Given the description of an element on the screen output the (x, y) to click on. 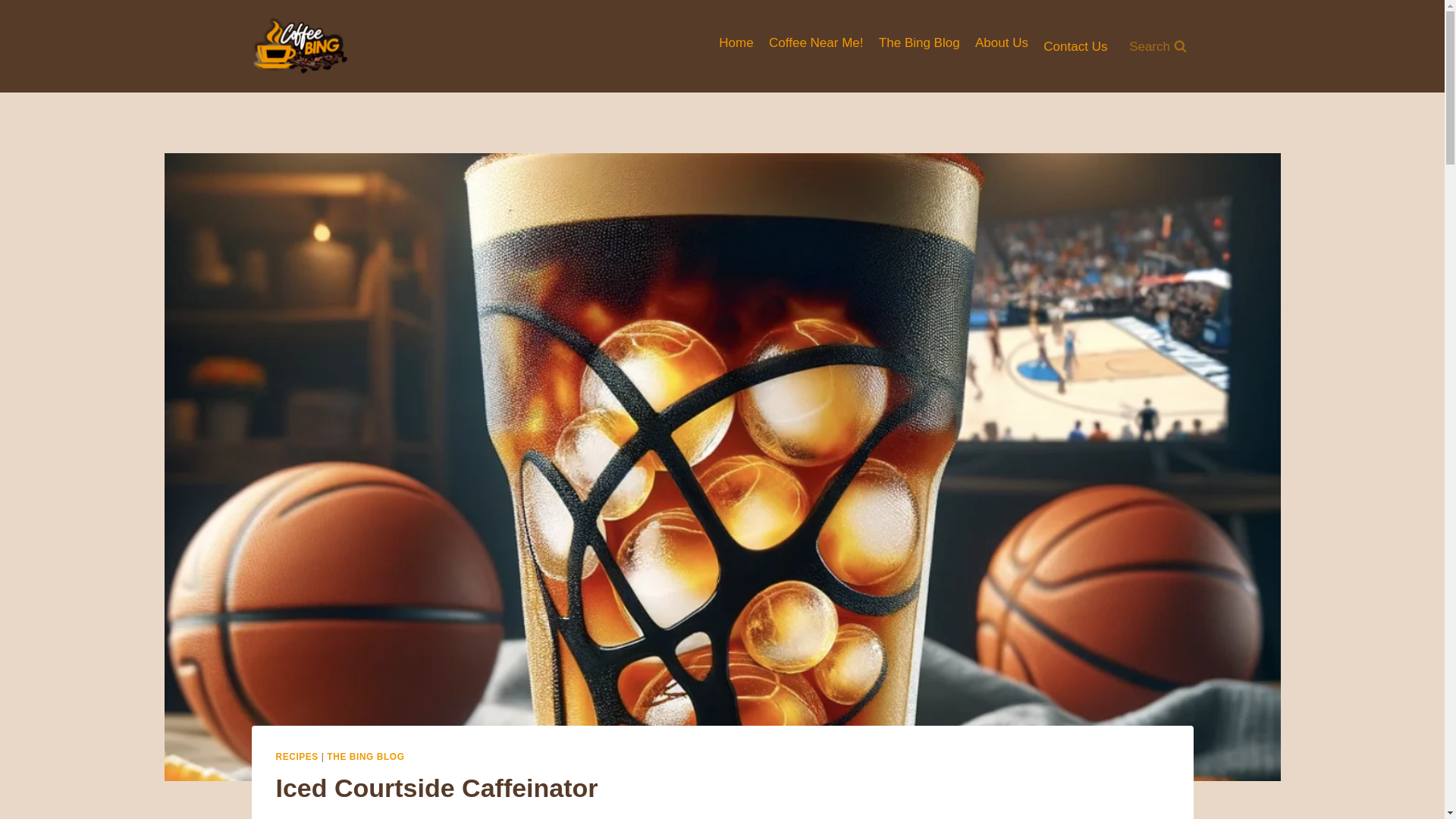
Contact Us (1075, 46)
THE BING BLOG (365, 756)
RECIPES (297, 756)
Search (1157, 46)
The Bing Blog (919, 42)
Coffee Near Me! (815, 42)
